Given the description of an element on the screen output the (x, y) to click on. 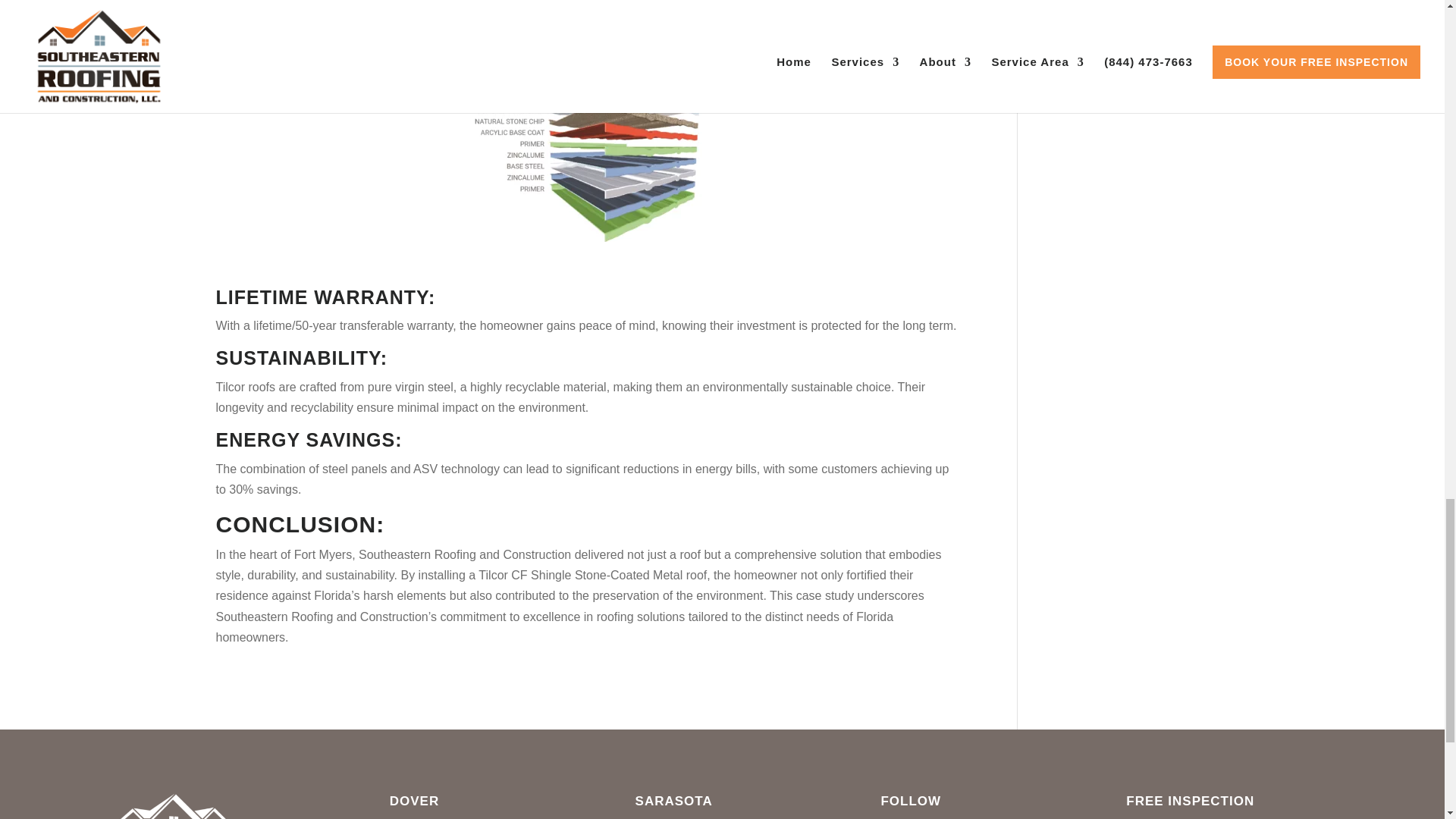
SER-Logo-White (172, 801)
